Given the description of an element on the screen output the (x, y) to click on. 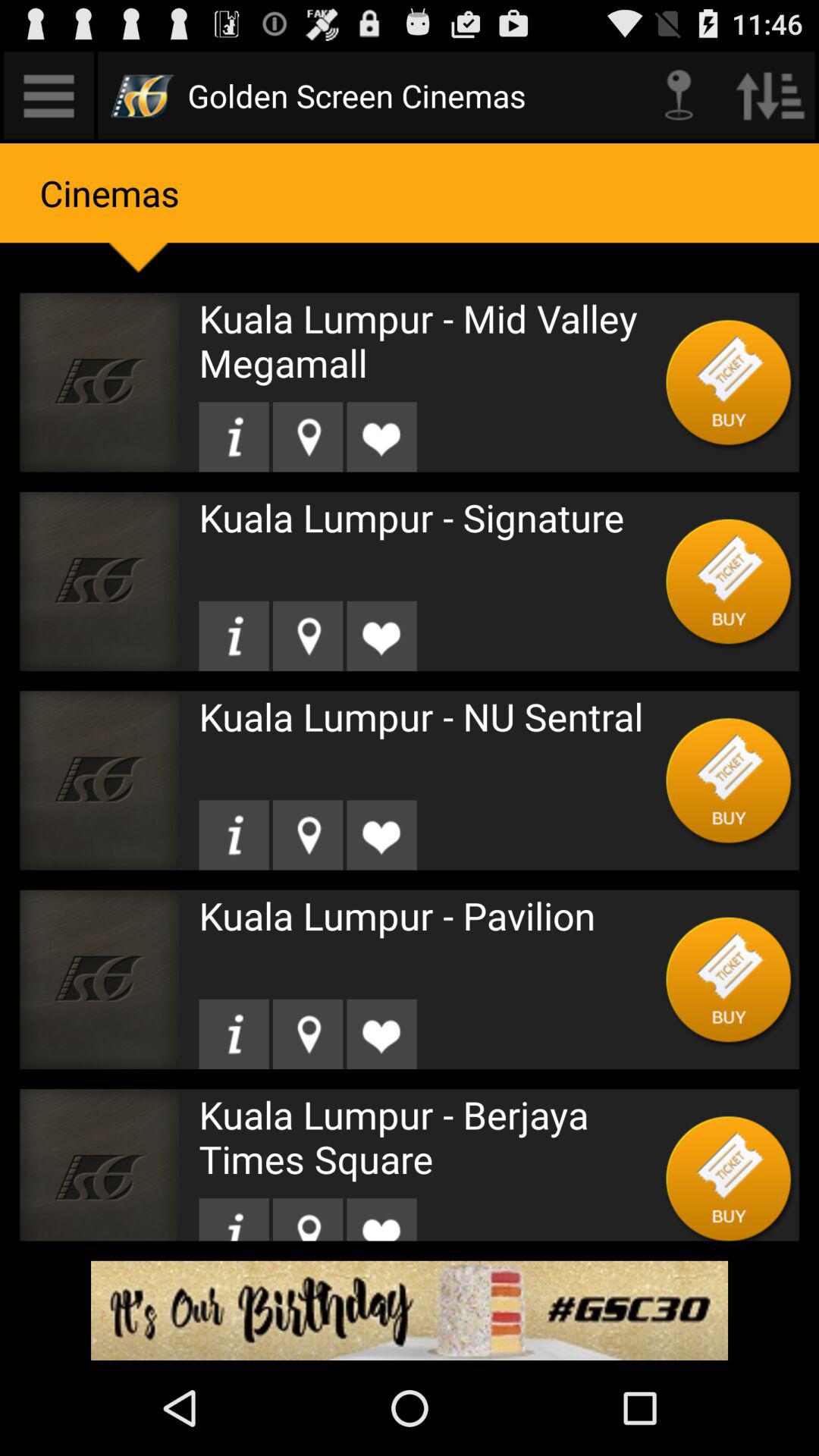
check into location (307, 1219)
